Given the description of an element on the screen output the (x, y) to click on. 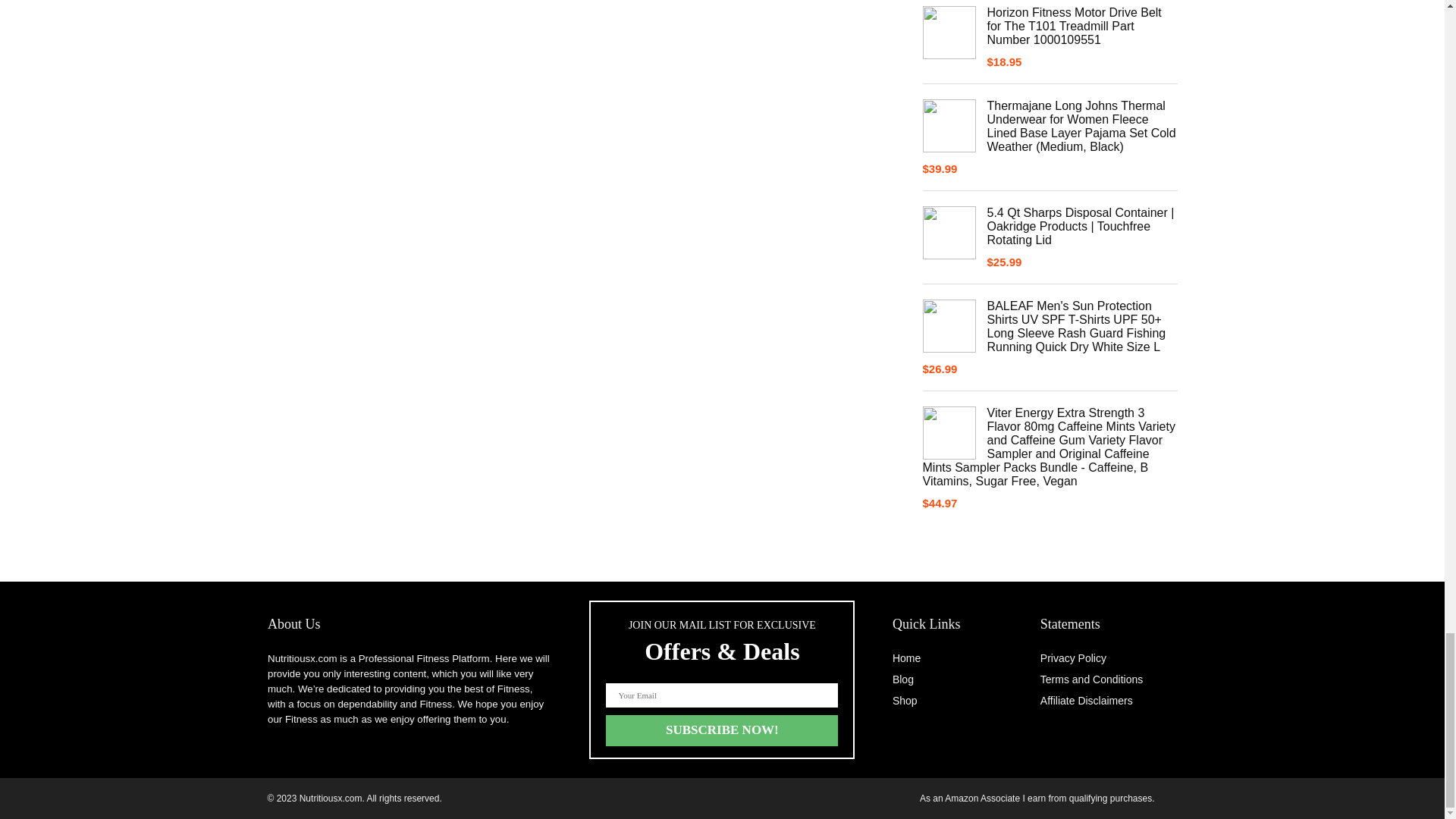
SUBSCRIBE NOW! (721, 729)
